Given the description of an element on the screen output the (x, y) to click on. 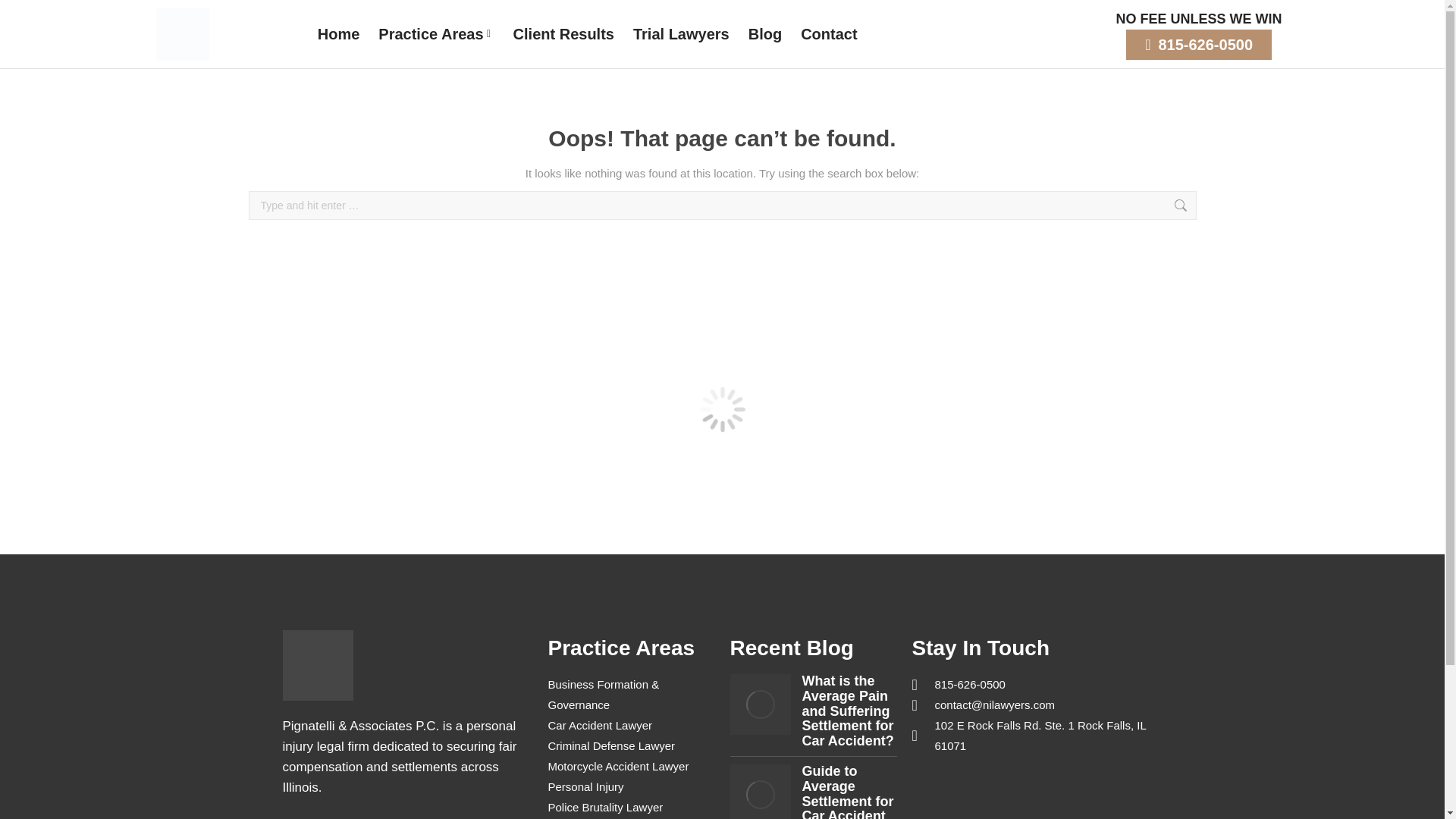
Trial Lawyers (681, 34)
Contact (828, 34)
Practice Areas (435, 34)
Home (338, 34)
Go! (1220, 207)
Go! (1220, 207)
Go! (1220, 207)
Client Results (563, 34)
